Given the description of an element on the screen output the (x, y) to click on. 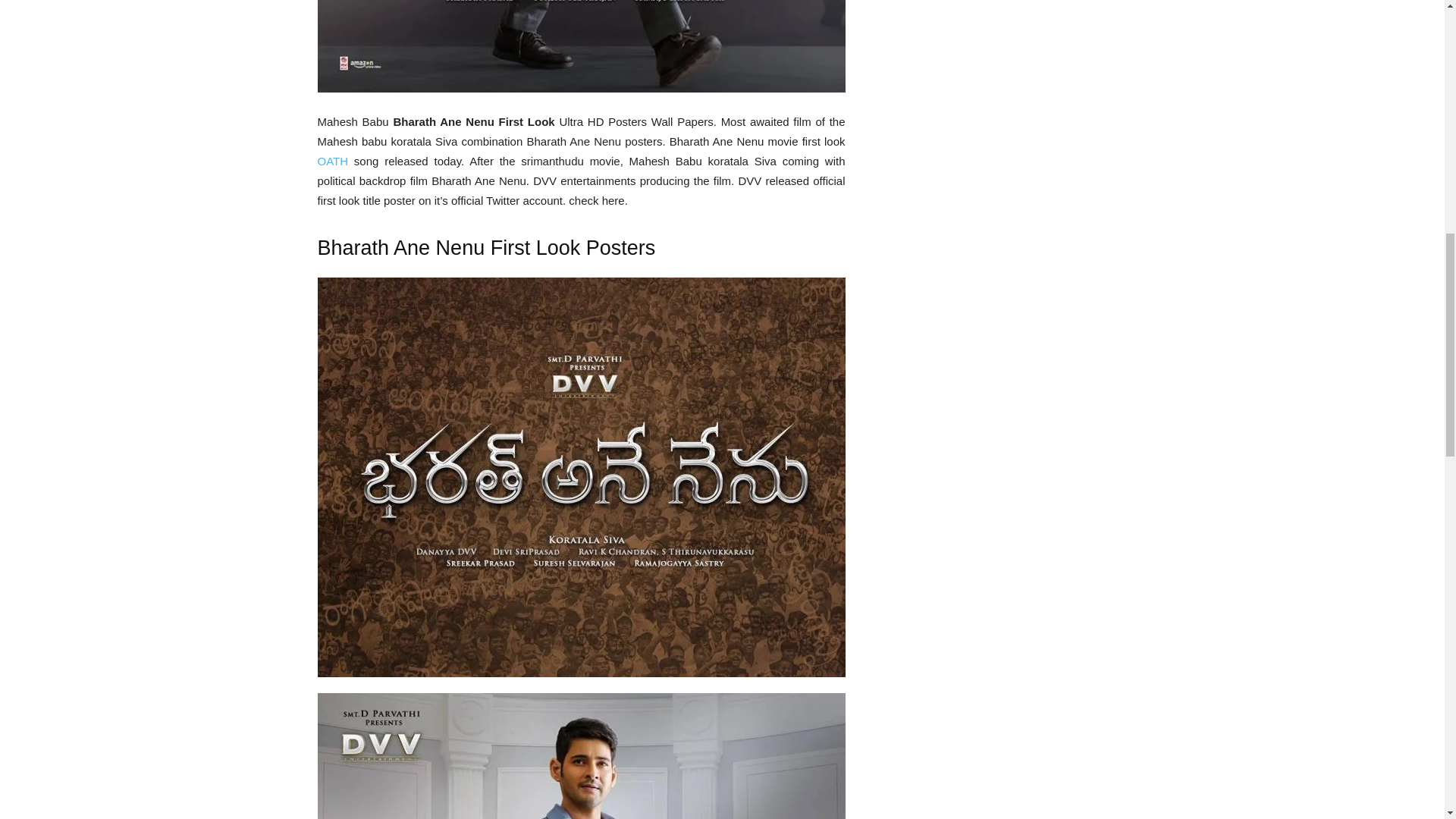
Mahesh-Babu-Bharath-Ane-Nenu-First-look-Posters (580, 46)
Bharath Ane Nenu First Look Posters (580, 755)
